Given the description of an element on the screen output the (x, y) to click on. 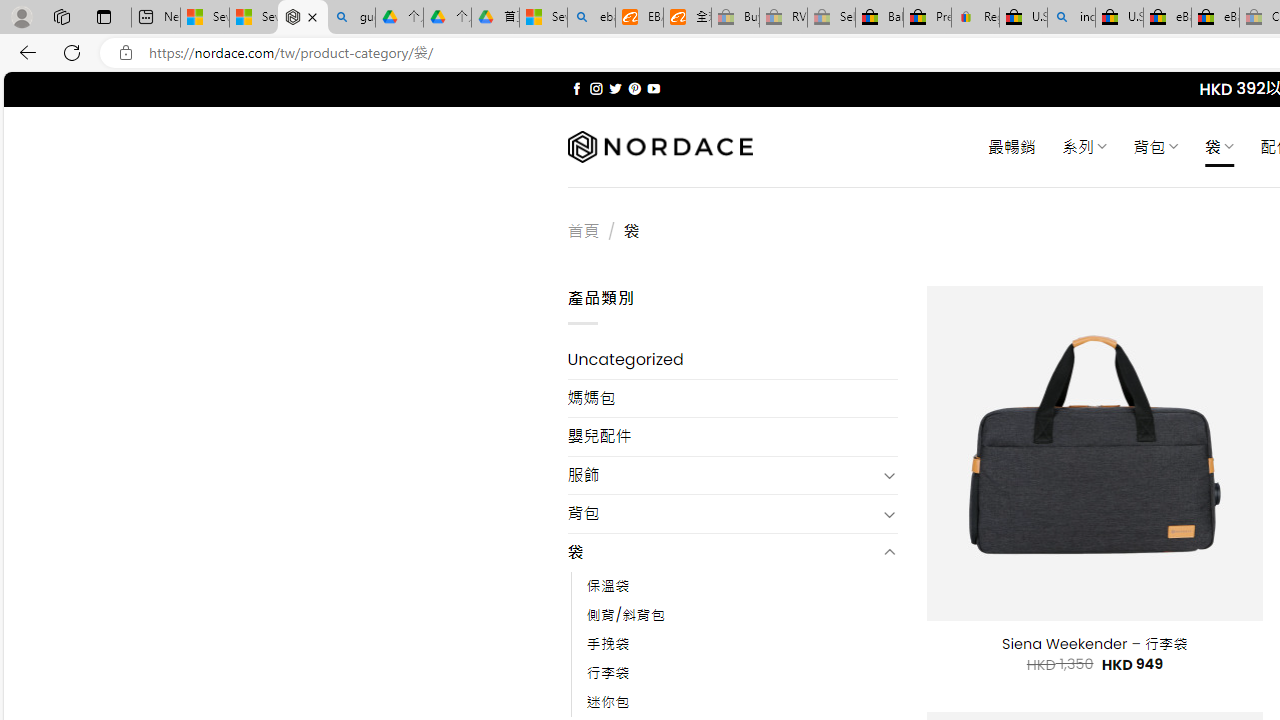
Back (24, 52)
ebay - Search (591, 17)
eBay Inc. Reports Third Quarter 2023 Results (1215, 17)
Follow on Instagram (596, 88)
View site information (125, 53)
